Given the description of an element on the screen output the (x, y) to click on. 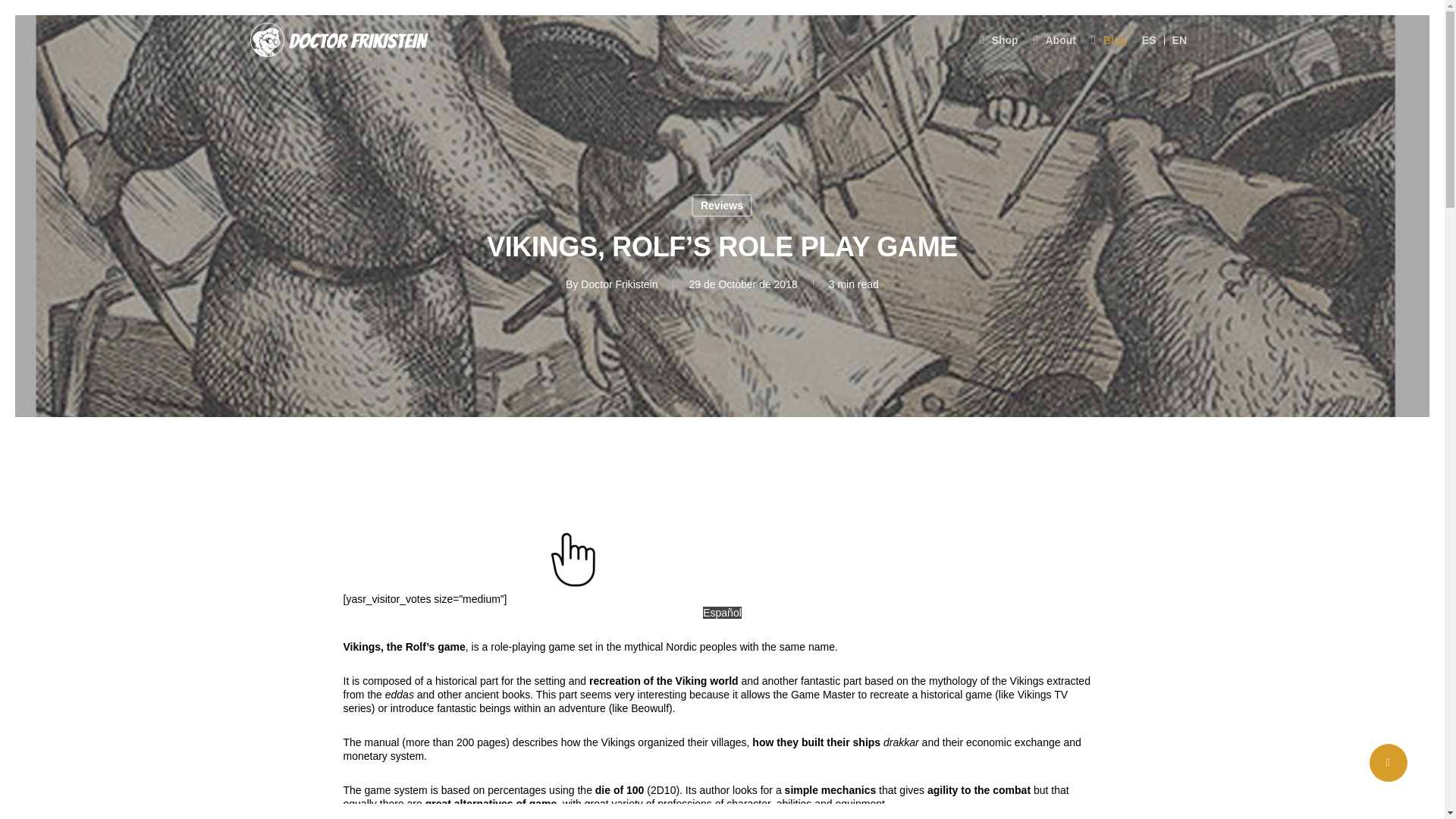
Reviews (721, 205)
Blog (1108, 40)
EN (1178, 40)
Shop (999, 40)
Doctor Frikistein (619, 284)
Posts by Doctor Frikistein (619, 284)
ES (1149, 40)
About (1054, 40)
